Given the description of an element on the screen output the (x, y) to click on. 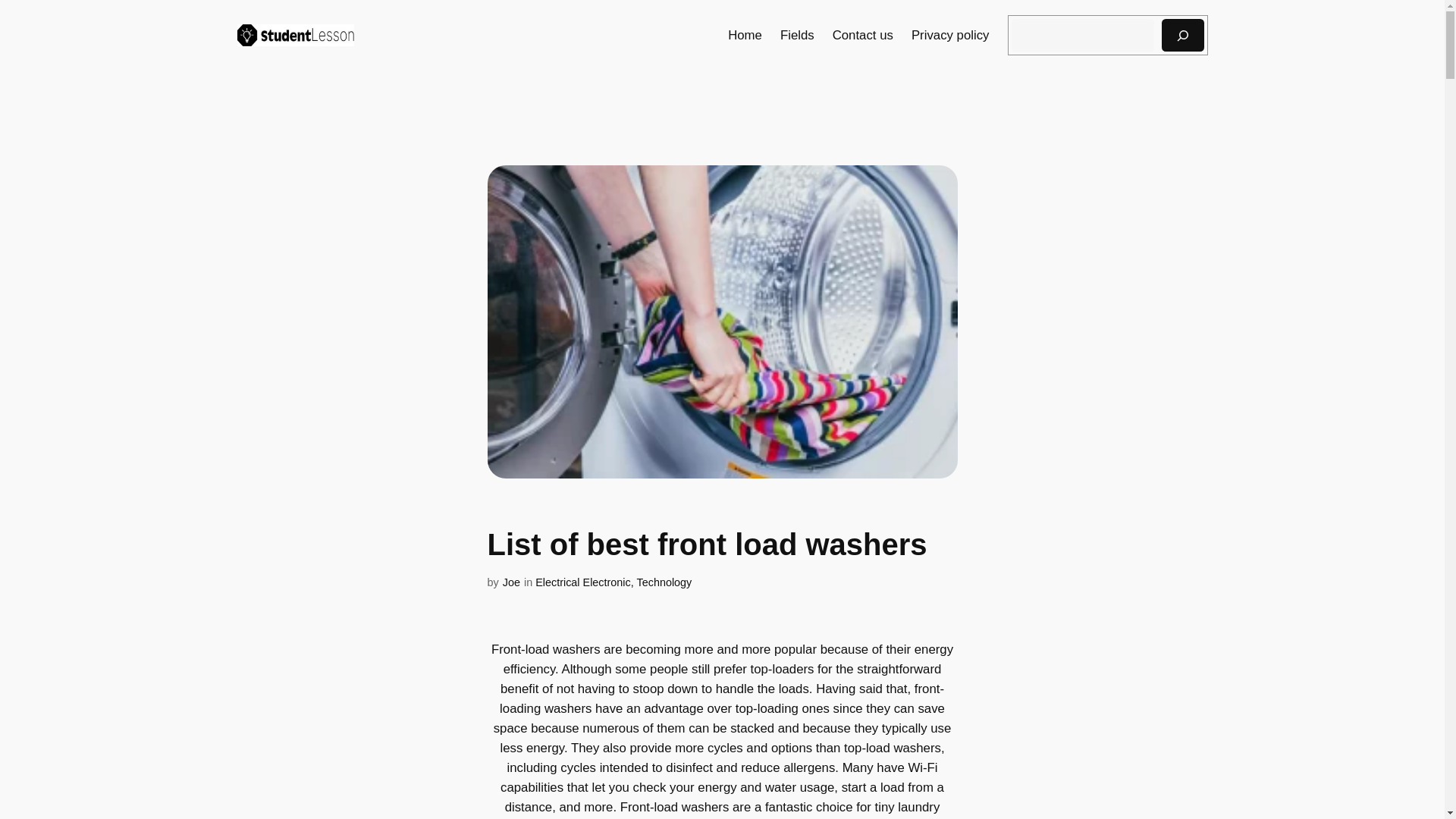
Technology (663, 582)
Contact us (862, 35)
Home (744, 35)
Privacy policy (950, 35)
Fields (796, 35)
Joe (510, 582)
Electrical Electronic (582, 582)
